Given the description of an element on the screen output the (x, y) to click on. 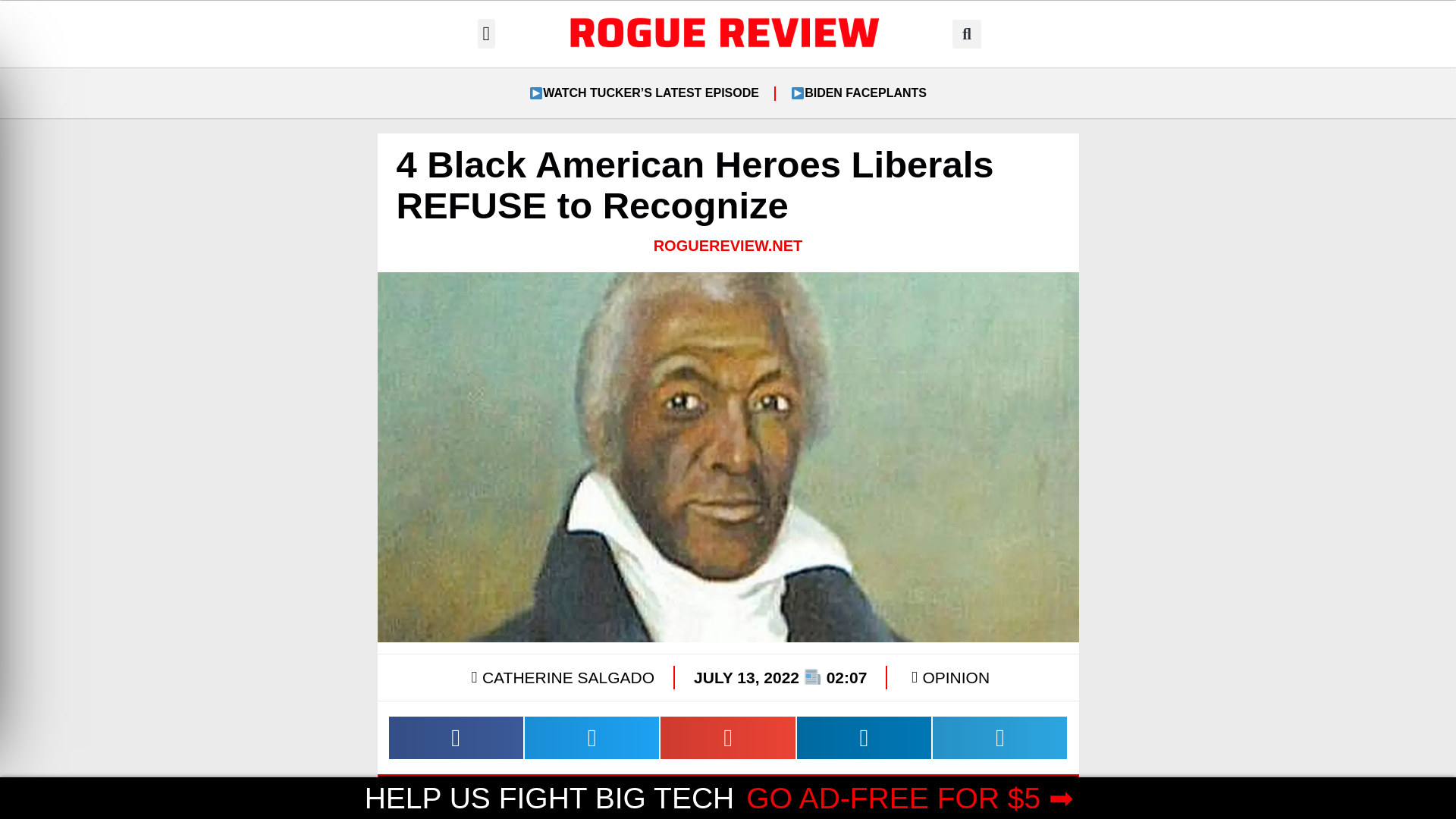
OPINION (955, 677)
CATHERINE SALGADO (559, 677)
BIDEN FACEPLANTS (859, 93)
